Given the description of an element on the screen output the (x, y) to click on. 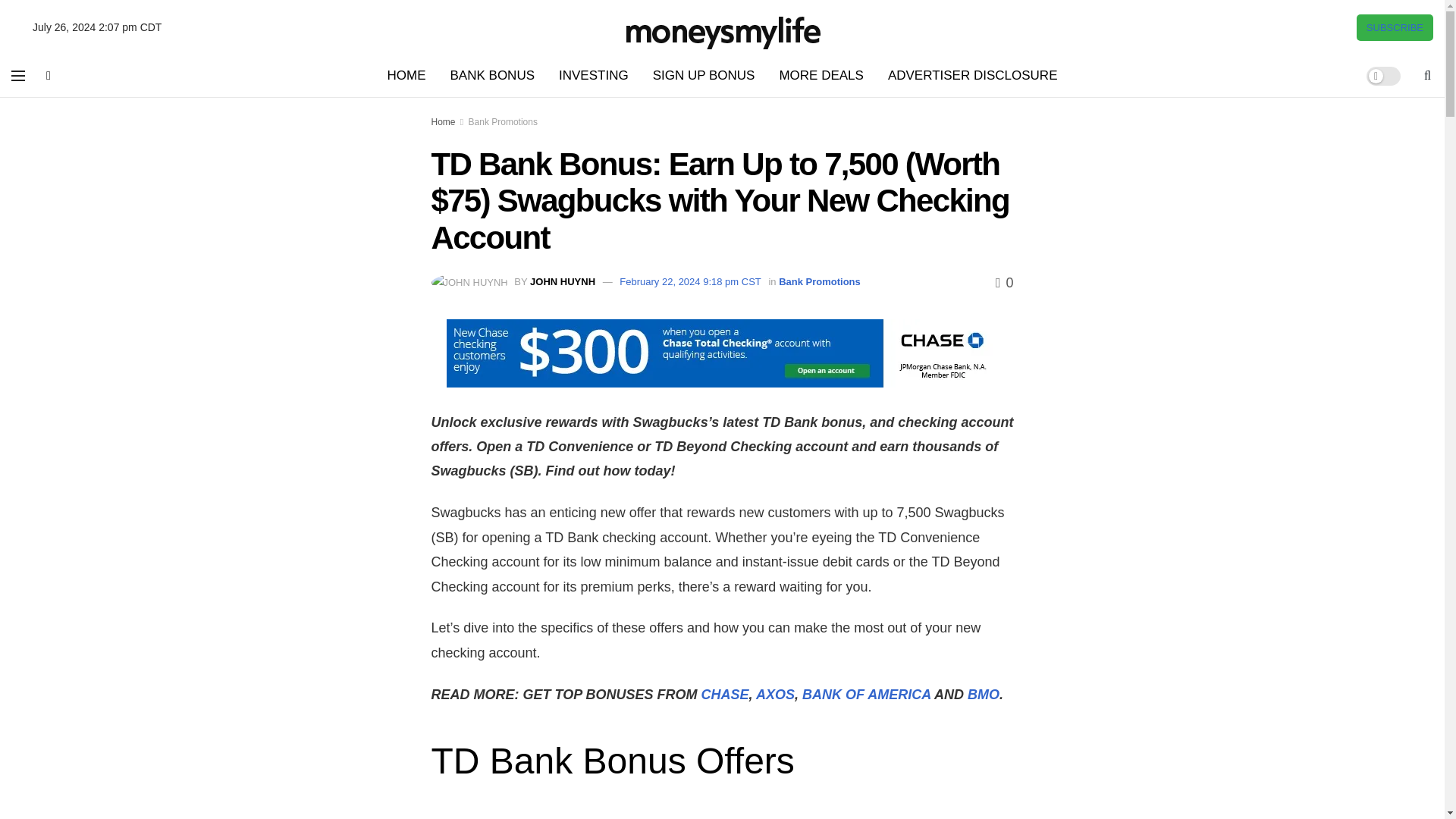
SUBSCRIBE (1394, 26)
BANK BONUS (492, 75)
MORE DEALS (821, 75)
INVESTING (593, 75)
SIGN UP BONUS (703, 75)
HOME (406, 75)
